Given the description of an element on the screen output the (x, y) to click on. 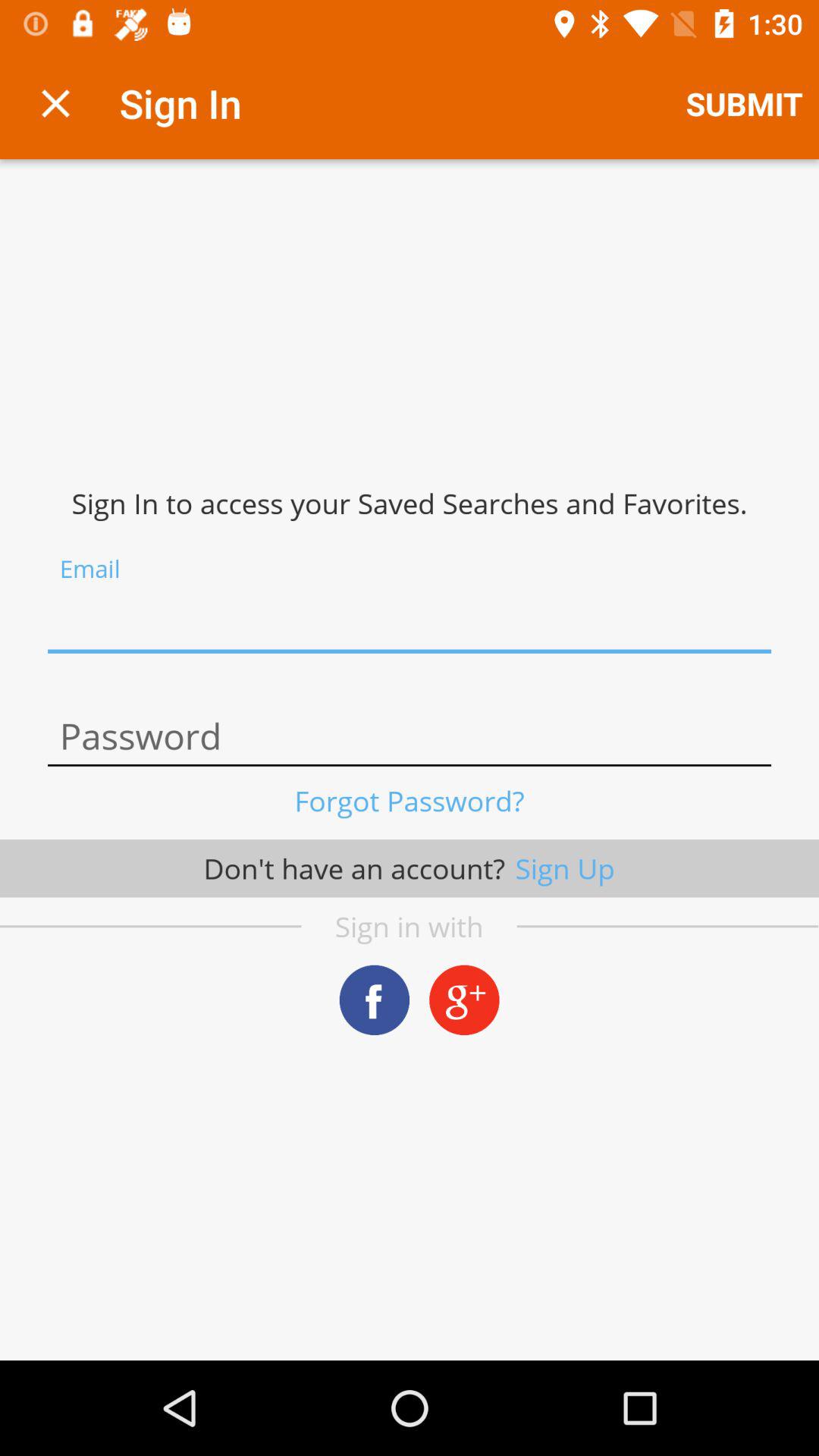
close page (55, 103)
